Given the description of an element on the screen output the (x, y) to click on. 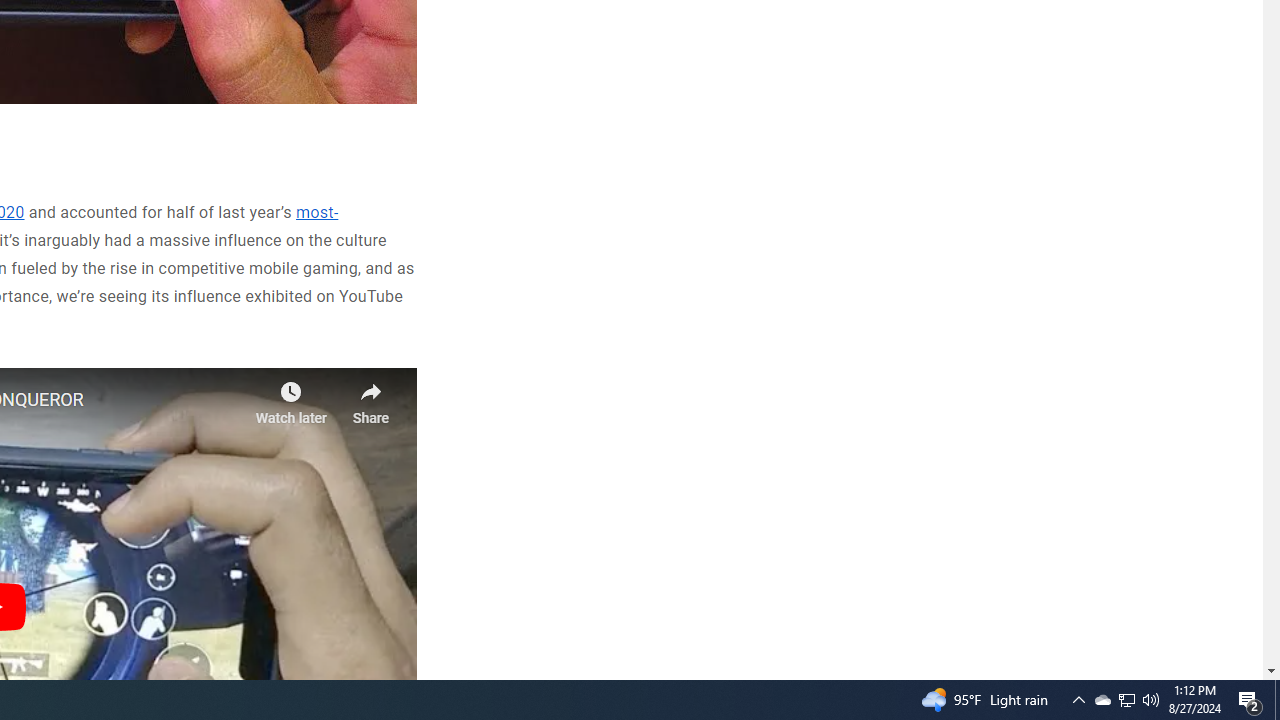
Share (370, 397)
Watch later (290, 397)
